Given the description of an element on the screen output the (x, y) to click on. 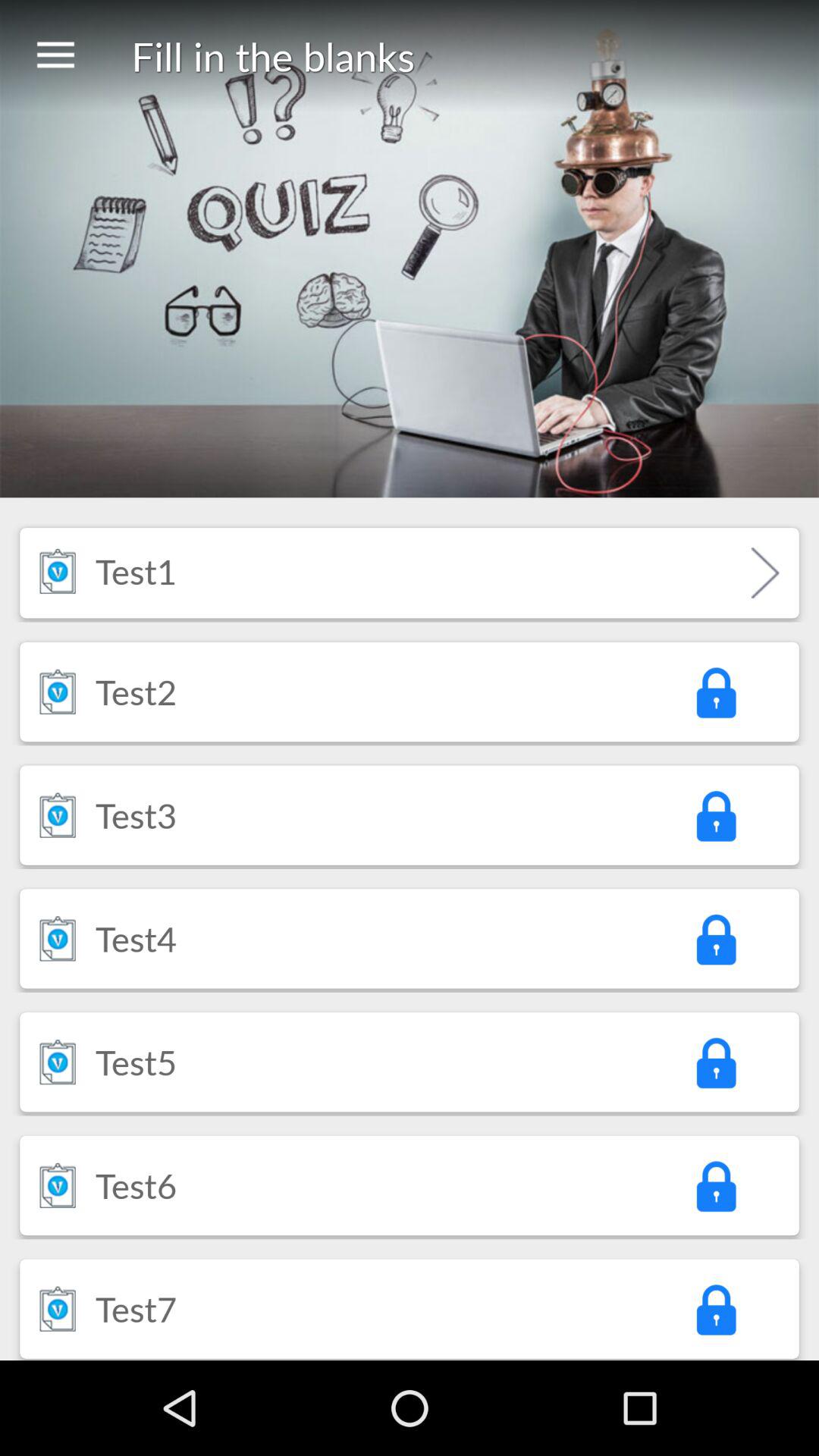
press the item to the left of the test7 (57, 1308)
